Given the description of an element on the screen output the (x, y) to click on. 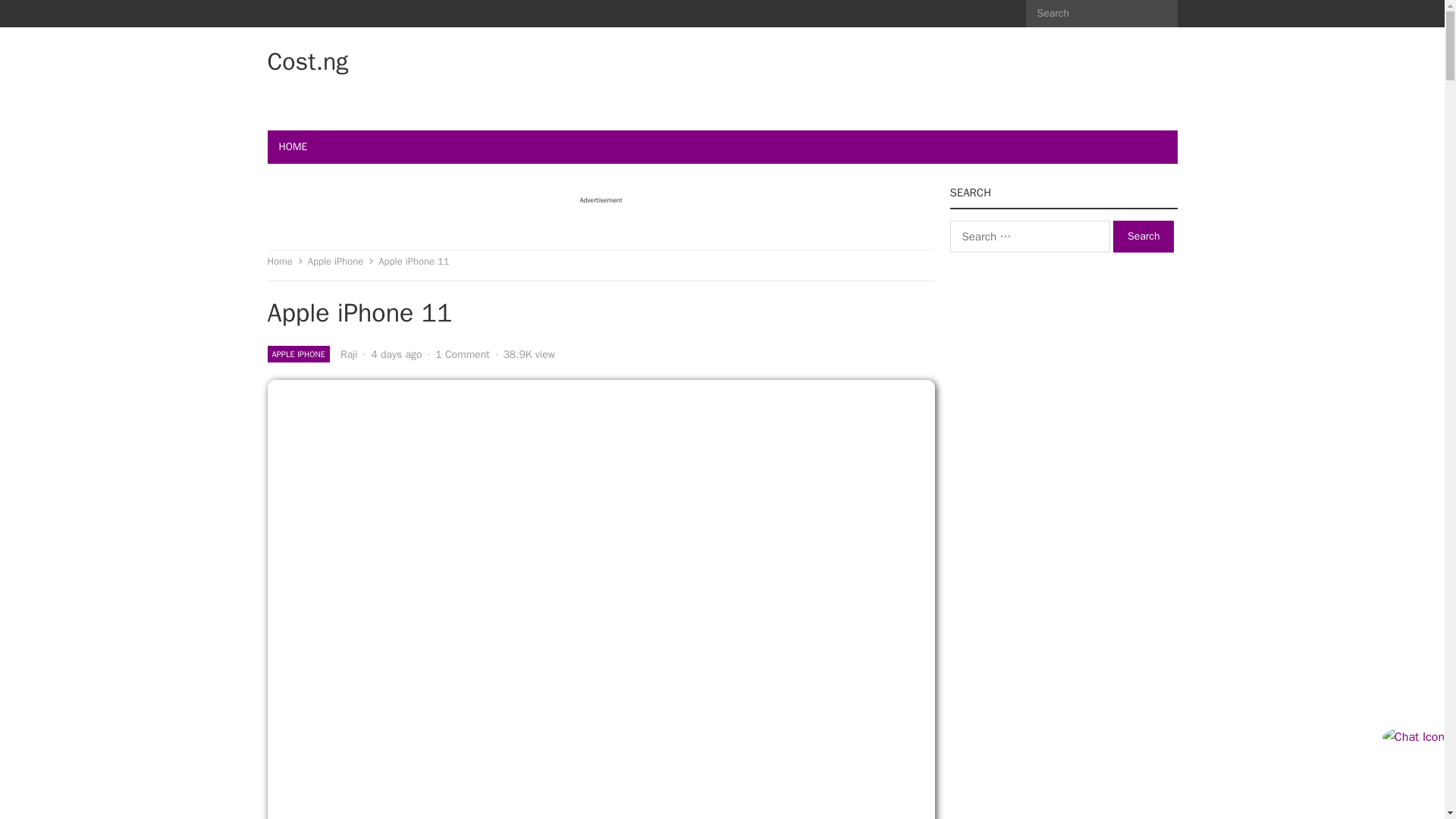
Home (284, 260)
Apple iPhone (340, 260)
HOME (292, 146)
Raji (349, 354)
Search (1143, 236)
Cost.ng (306, 61)
APPLE IPHONE (297, 353)
1 Comment (462, 354)
Posts by Raji (349, 354)
Search (1143, 236)
